Given the description of an element on the screen output the (x, y) to click on. 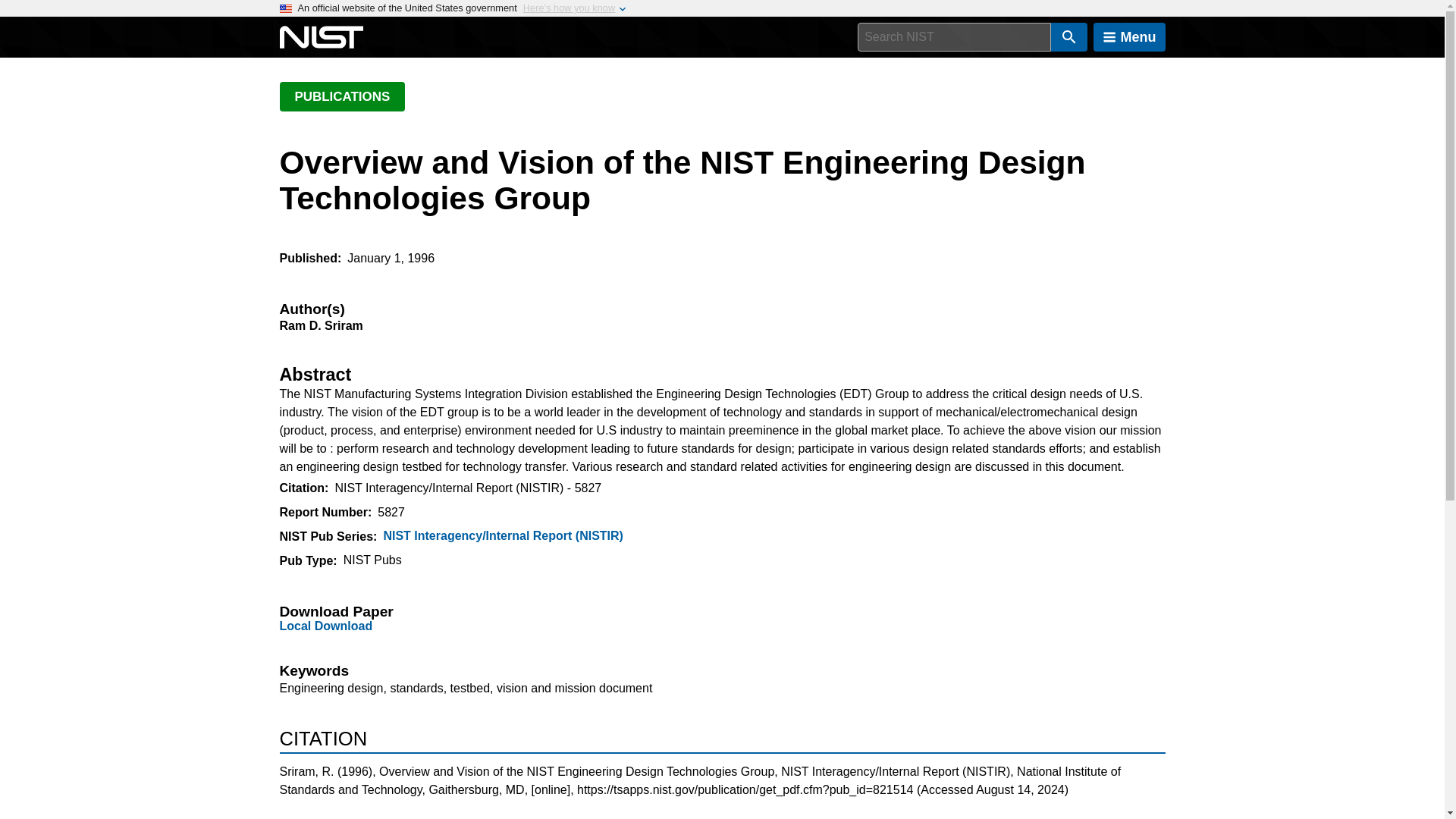
PUBLICATIONS (341, 96)
Menu (1129, 36)
Local Download (325, 625)
National Institute of Standards and Technology (320, 36)
